Given the description of an element on the screen output the (x, y) to click on. 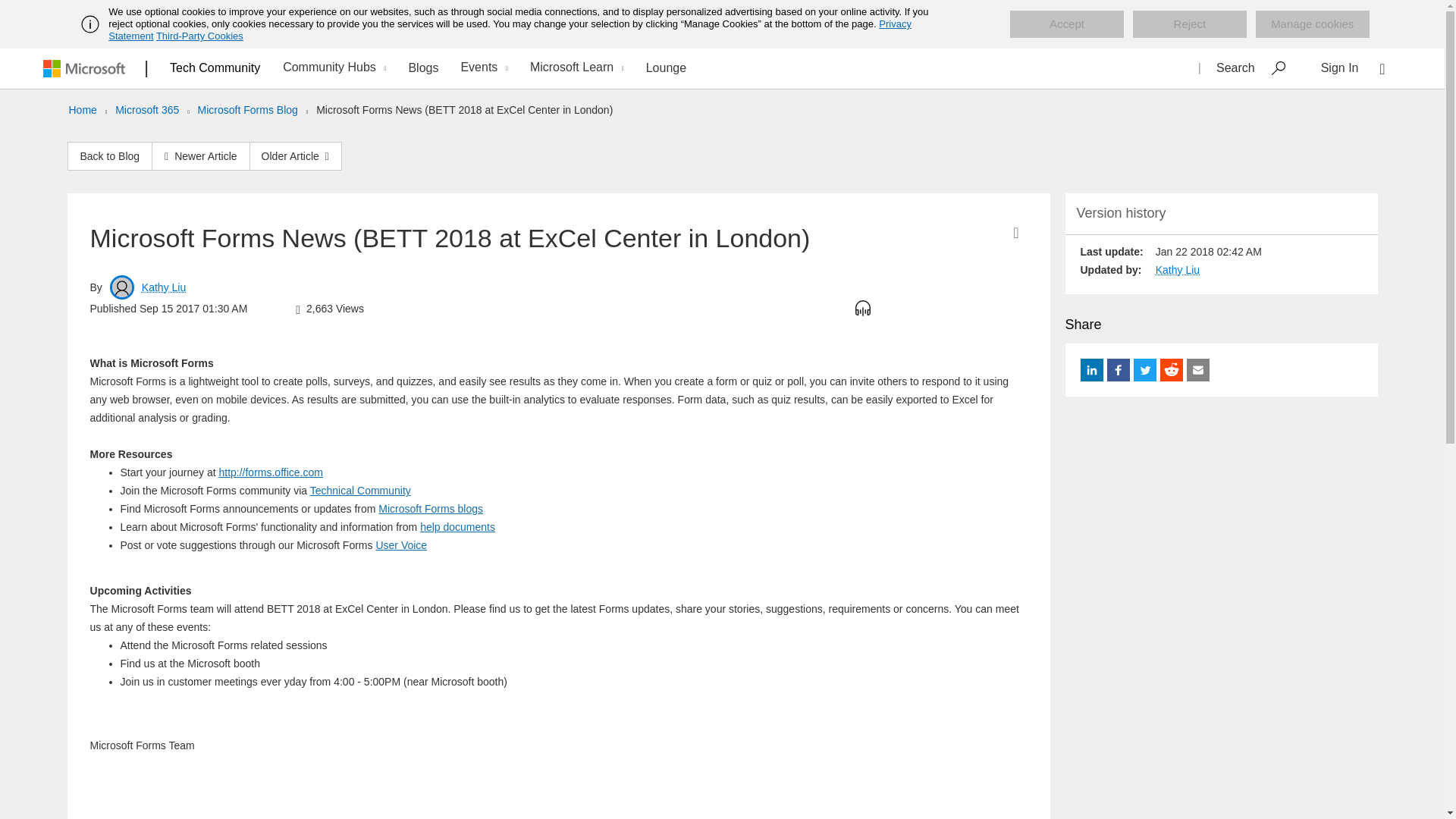
Tech Community (215, 67)
Accept (1067, 23)
Reject (1189, 23)
Privacy Statement (509, 29)
Manage cookies (1312, 23)
Third-Party Cookies (199, 35)
Community Hubs (332, 67)
